Given the description of an element on the screen output the (x, y) to click on. 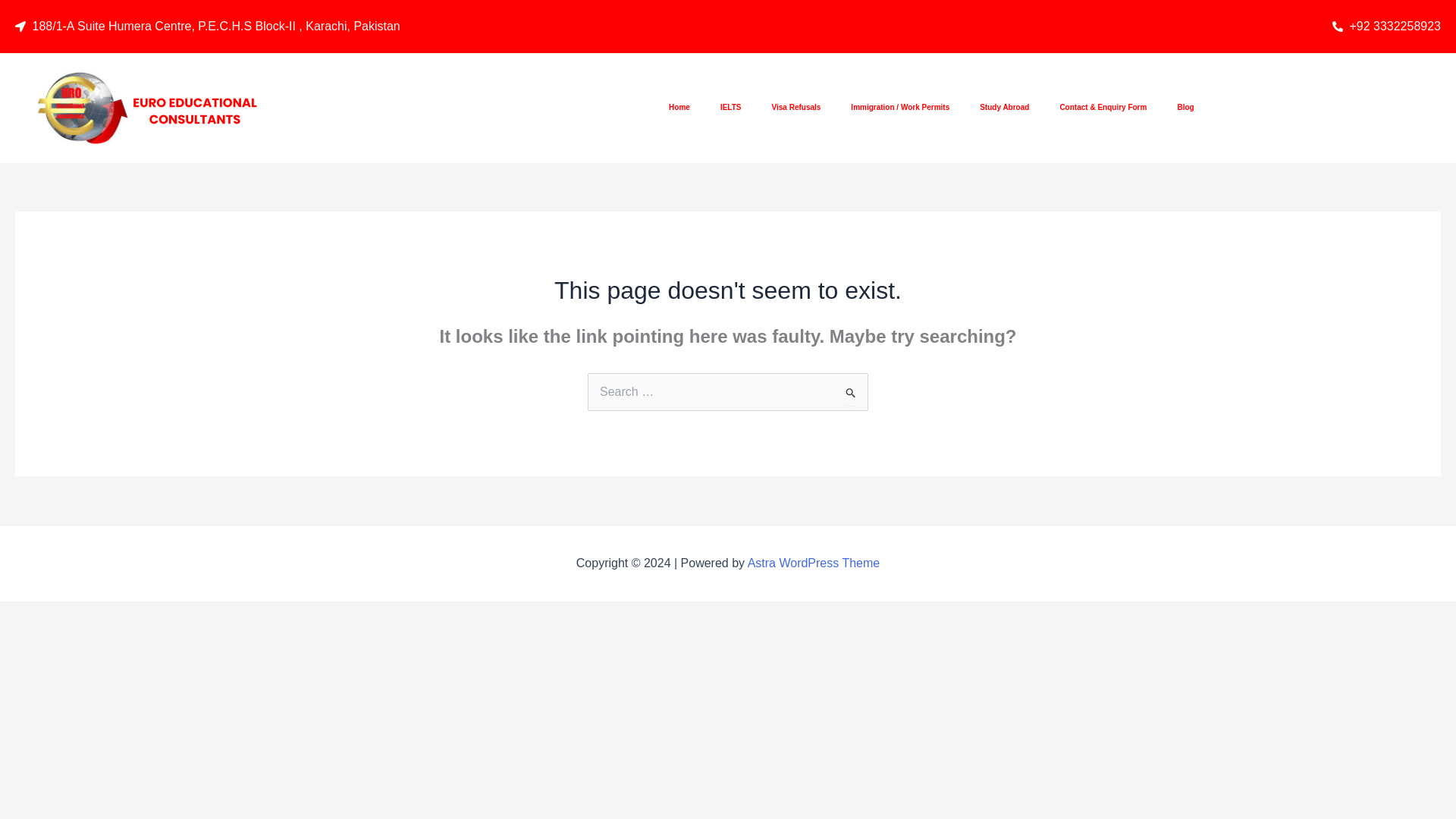
Visa Refusals (796, 107)
Blog (1184, 107)
Study Abroad (1003, 107)
Home (678, 107)
IELTS (730, 107)
